Given the description of an element on the screen output the (x, y) to click on. 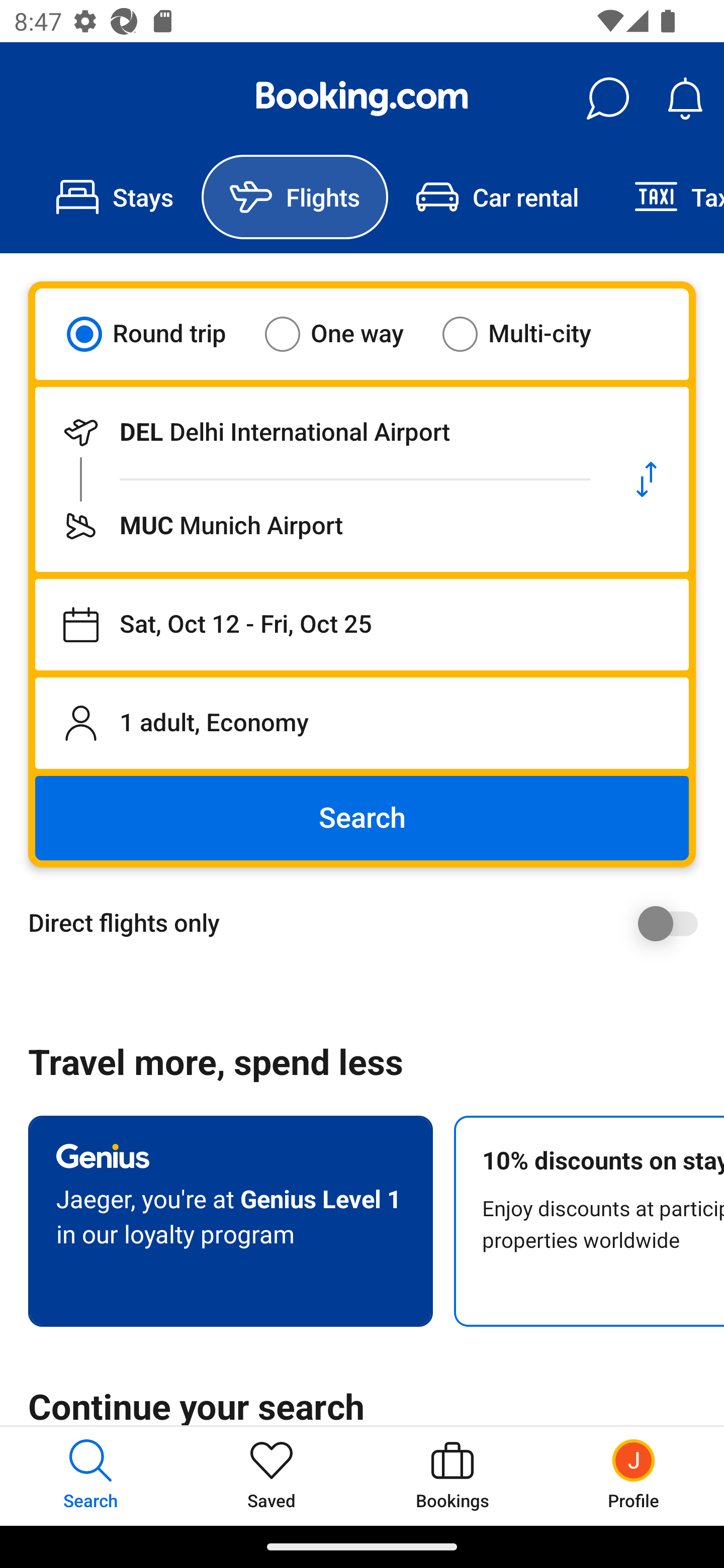
Messages (607, 98)
Notifications (685, 98)
Stays (114, 197)
Flights (294, 197)
Car rental (497, 197)
Taxi (665, 197)
One way (346, 333)
Multi-city (528, 333)
Departing from DEL Delhi International Airport (319, 432)
Swap departure location and destination (646, 479)
Flying to MUC Munich Airport (319, 525)
Departing on Sat, Oct 12, returning on Fri, Oct 25 (361, 624)
1 adult, Economy (361, 722)
Search (361, 818)
Direct flights only (369, 923)
Saved (271, 1475)
Bookings (452, 1475)
Profile (633, 1475)
